Given the description of an element on the screen output the (x, y) to click on. 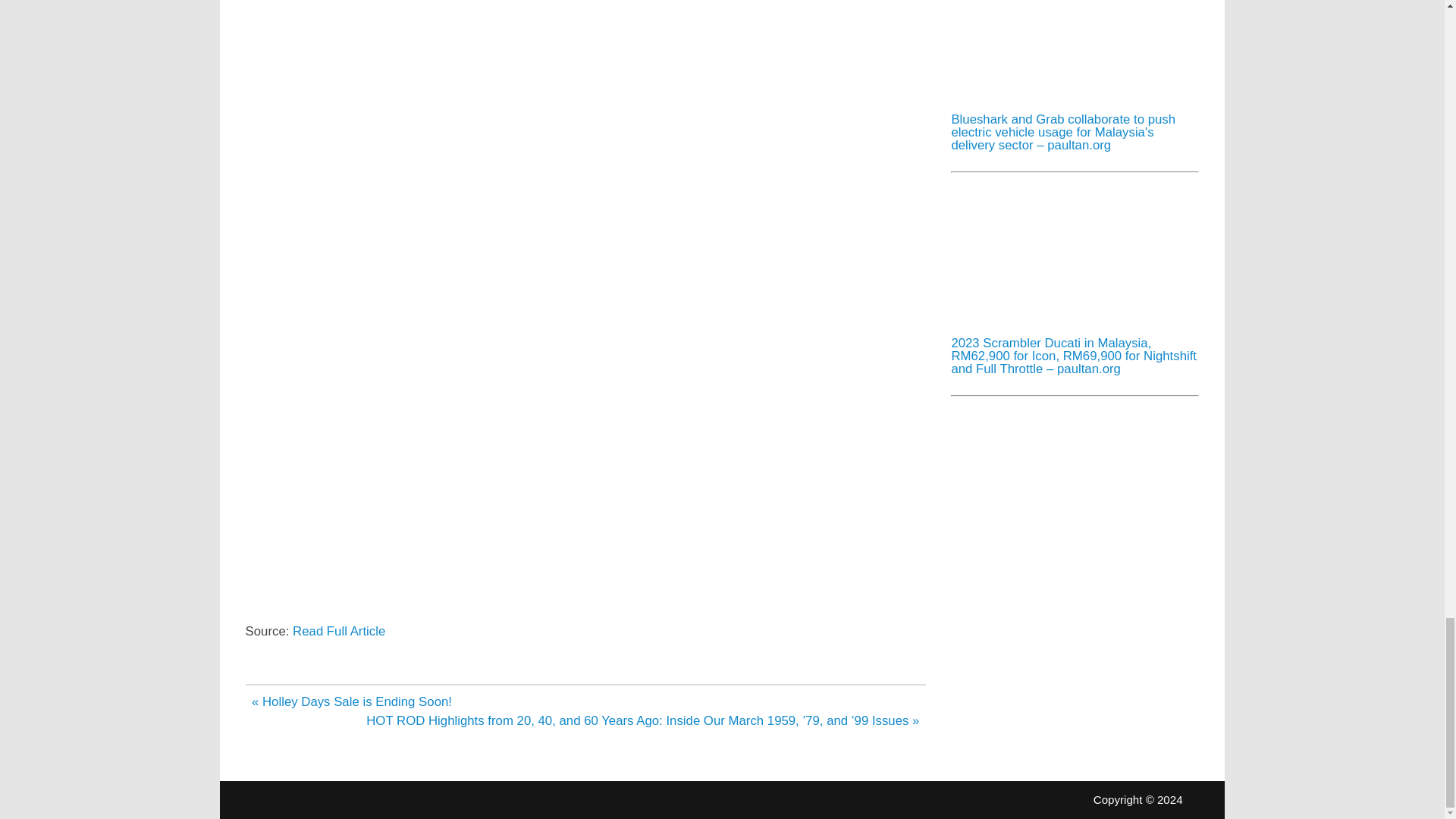
Read Full Article (338, 631)
